Given the description of an element on the screen output the (x, y) to click on. 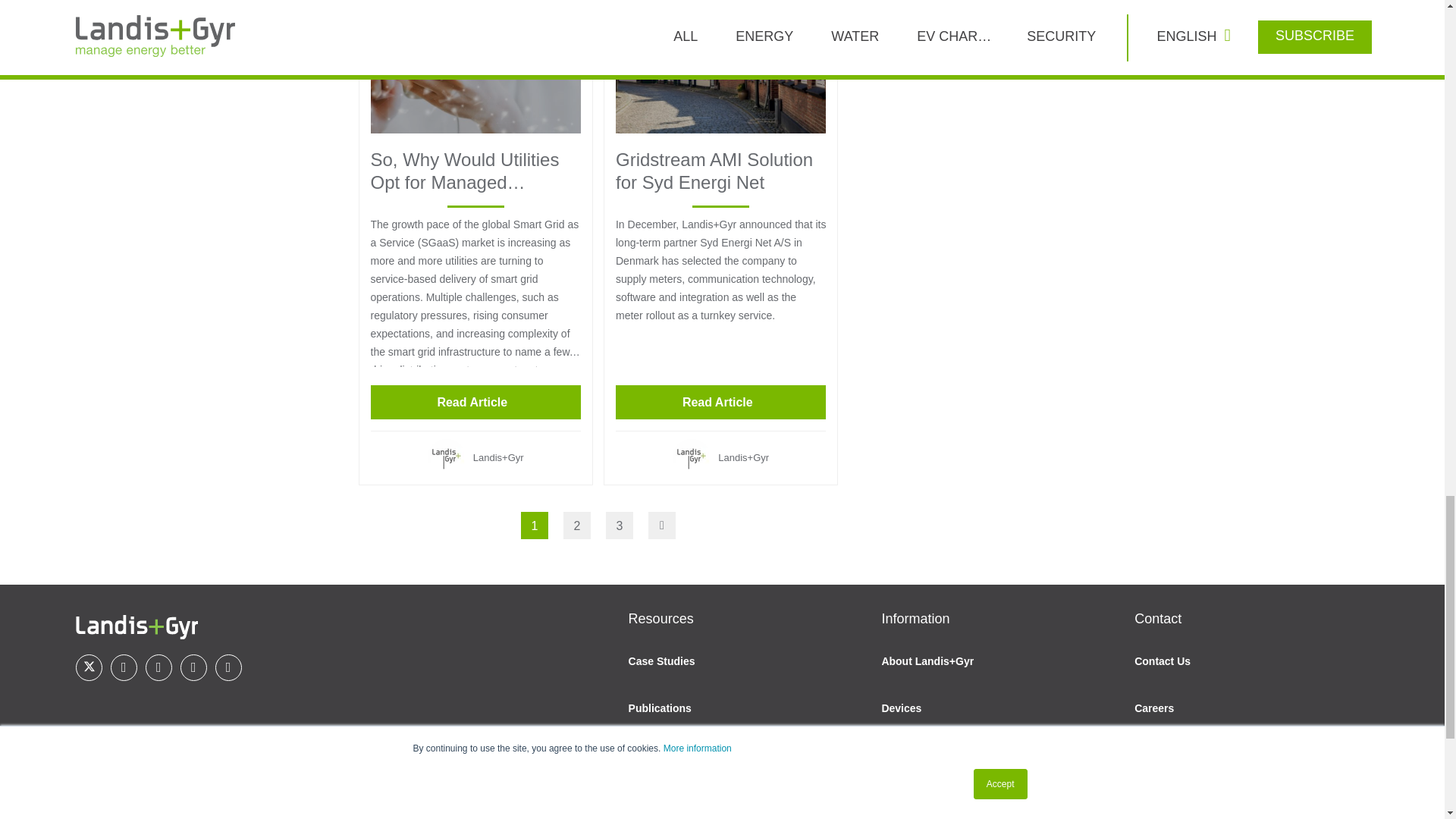
Twitter (88, 667)
